Given the description of an element on the screen output the (x, y) to click on. 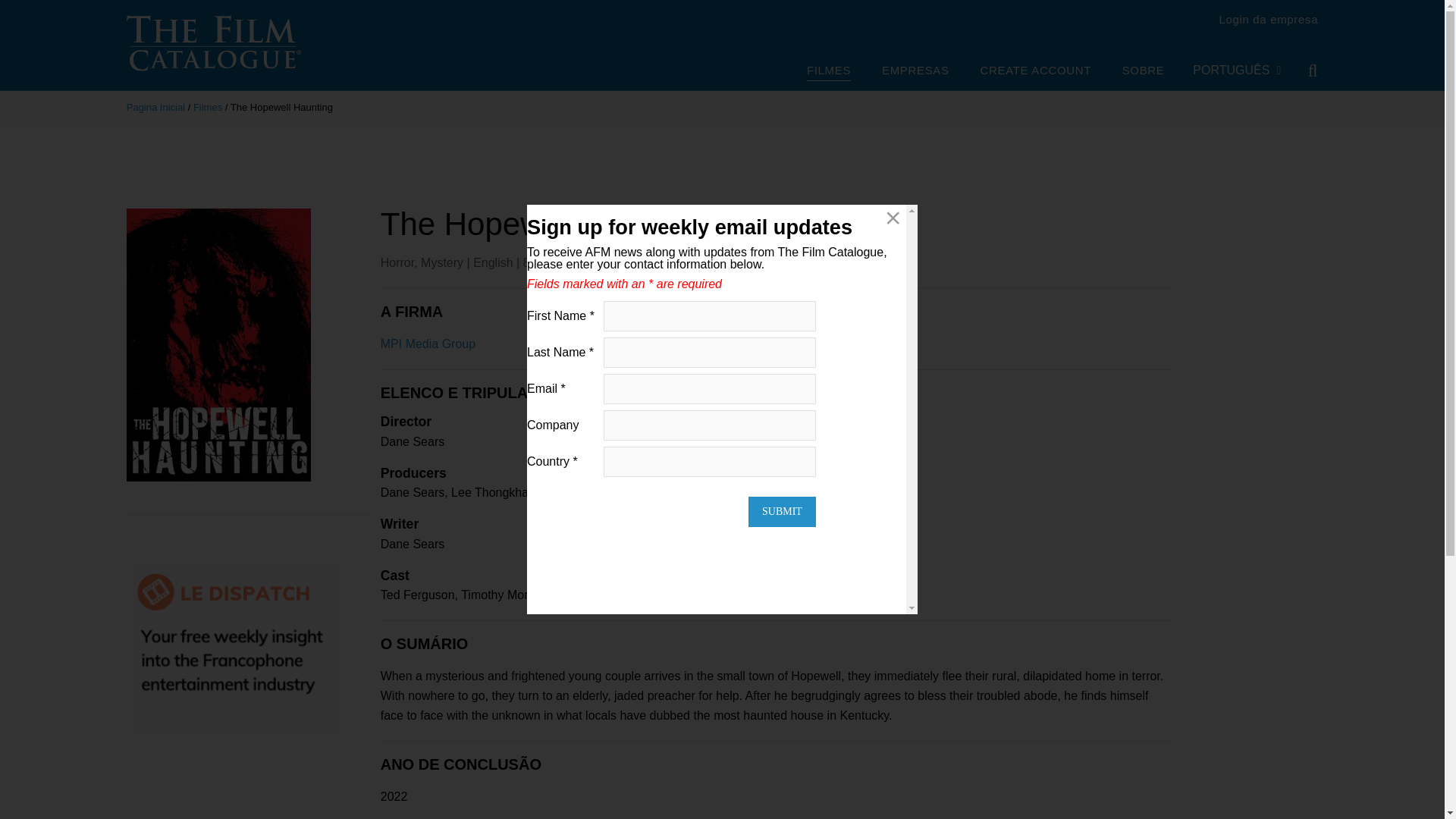
SOBRE (1143, 71)
EMPRESAS (915, 71)
Login da empresa (1267, 19)
Pagina Inicial (155, 107)
FILMES (828, 72)
Filmes (207, 107)
GO (1302, 70)
GO (1302, 70)
MPI Media Group (428, 343)
GO (1302, 70)
